Given the description of an element on the screen output the (x, y) to click on. 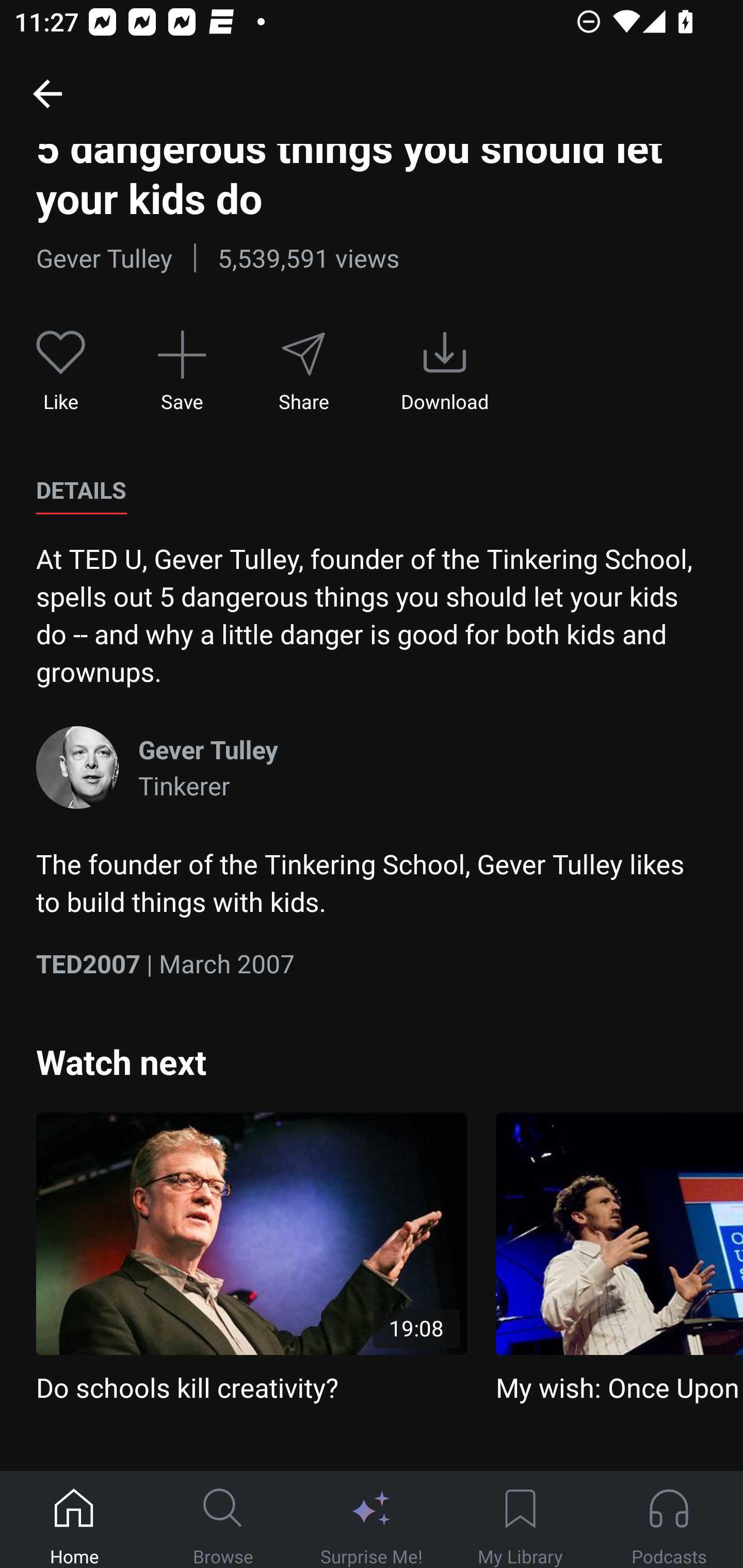
Home, back (47, 92)
Like (60, 371)
Save (181, 371)
Share (302, 371)
Download (444, 371)
DETAILS (80, 490)
19:08 Do schools kill creativity? (251, 1258)
My wish: Once Upon a School (619, 1258)
Home (74, 1520)
Browse (222, 1520)
Surprise Me! (371, 1520)
My Library (519, 1520)
Podcasts (668, 1520)
